Given the description of an element on the screen output the (x, y) to click on. 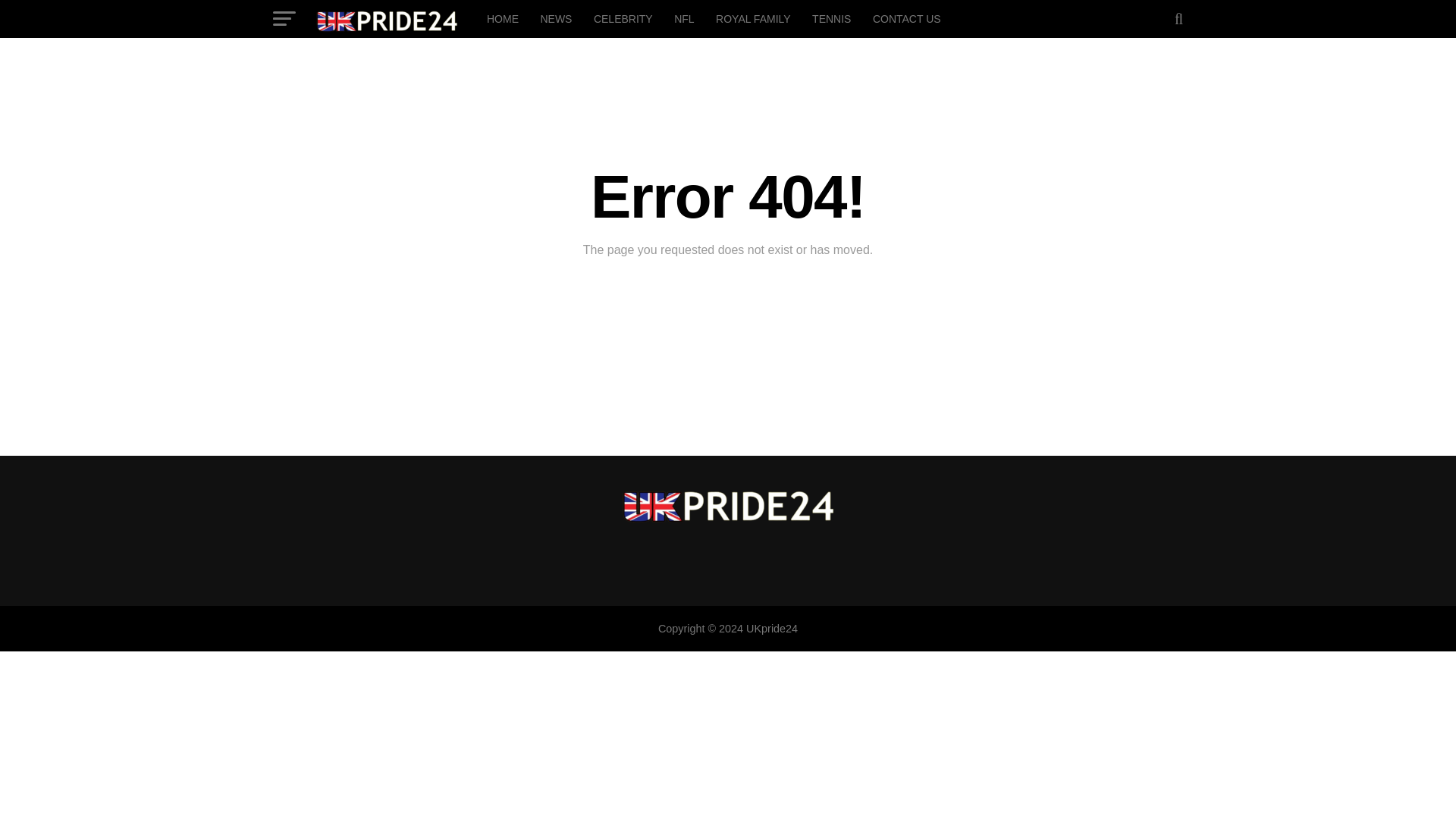
TENNIS (831, 18)
NFL (684, 18)
ROYAL FAMILY (752, 18)
CELEBRITY (623, 18)
CONTACT US (906, 18)
HOME (502, 18)
NEWS (555, 18)
